Given the description of an element on the screen output the (x, y) to click on. 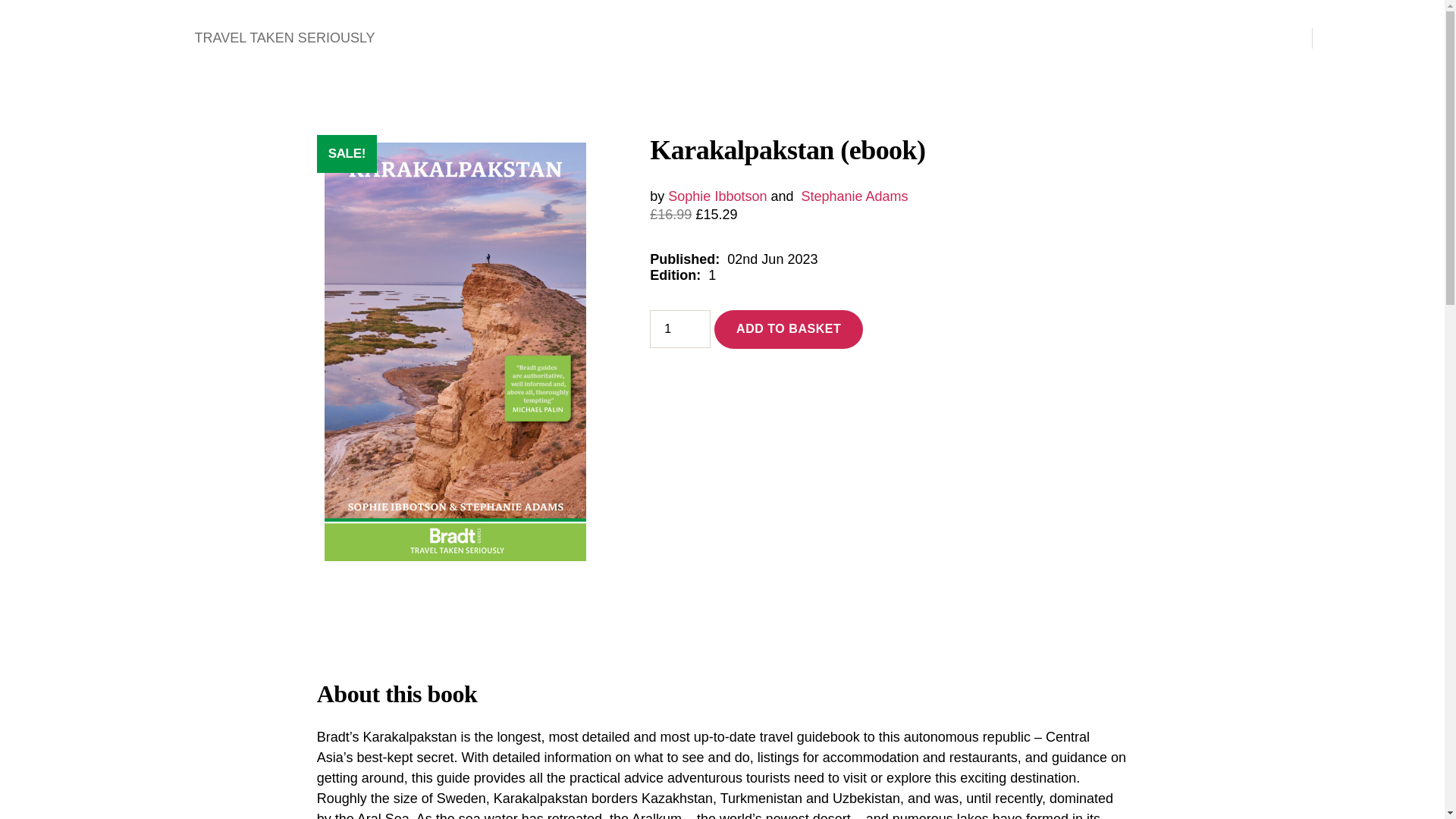
Search (1350, 37)
1 (679, 329)
Menu (1271, 37)
